Given the description of an element on the screen output the (x, y) to click on. 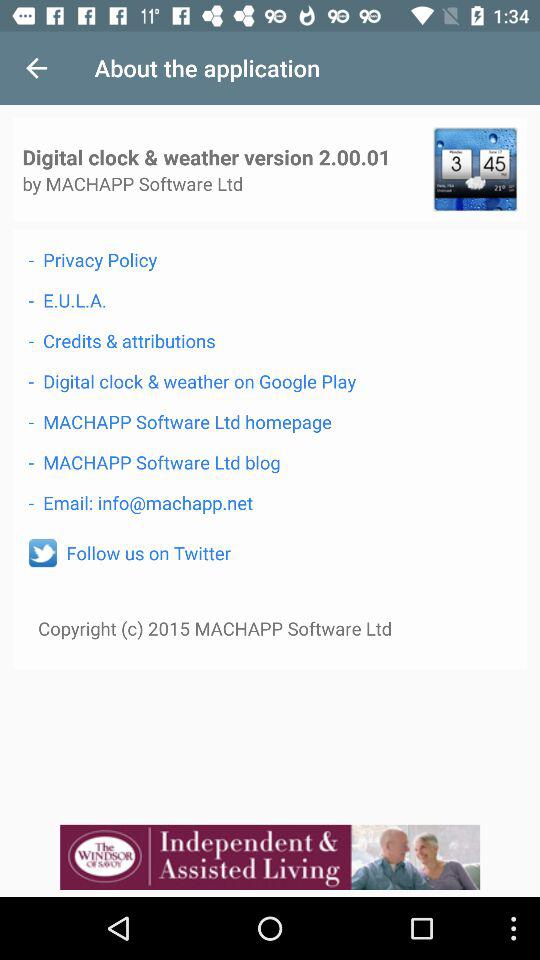
advertisement display (270, 857)
